Given the description of an element on the screen output the (x, y) to click on. 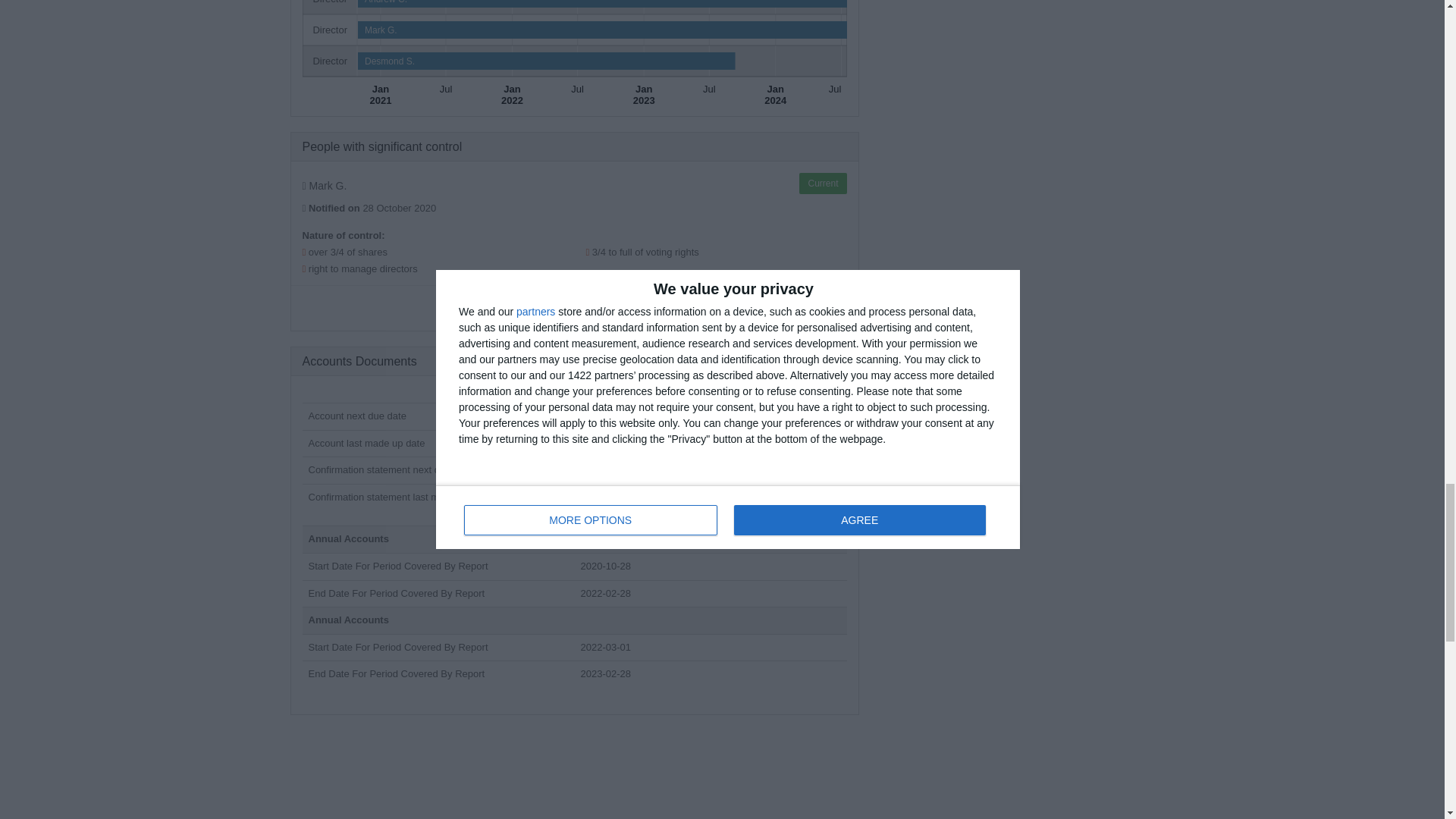
Show PSC filings details (573, 307)
Current (822, 183)
